Given the description of an element on the screen output the (x, y) to click on. 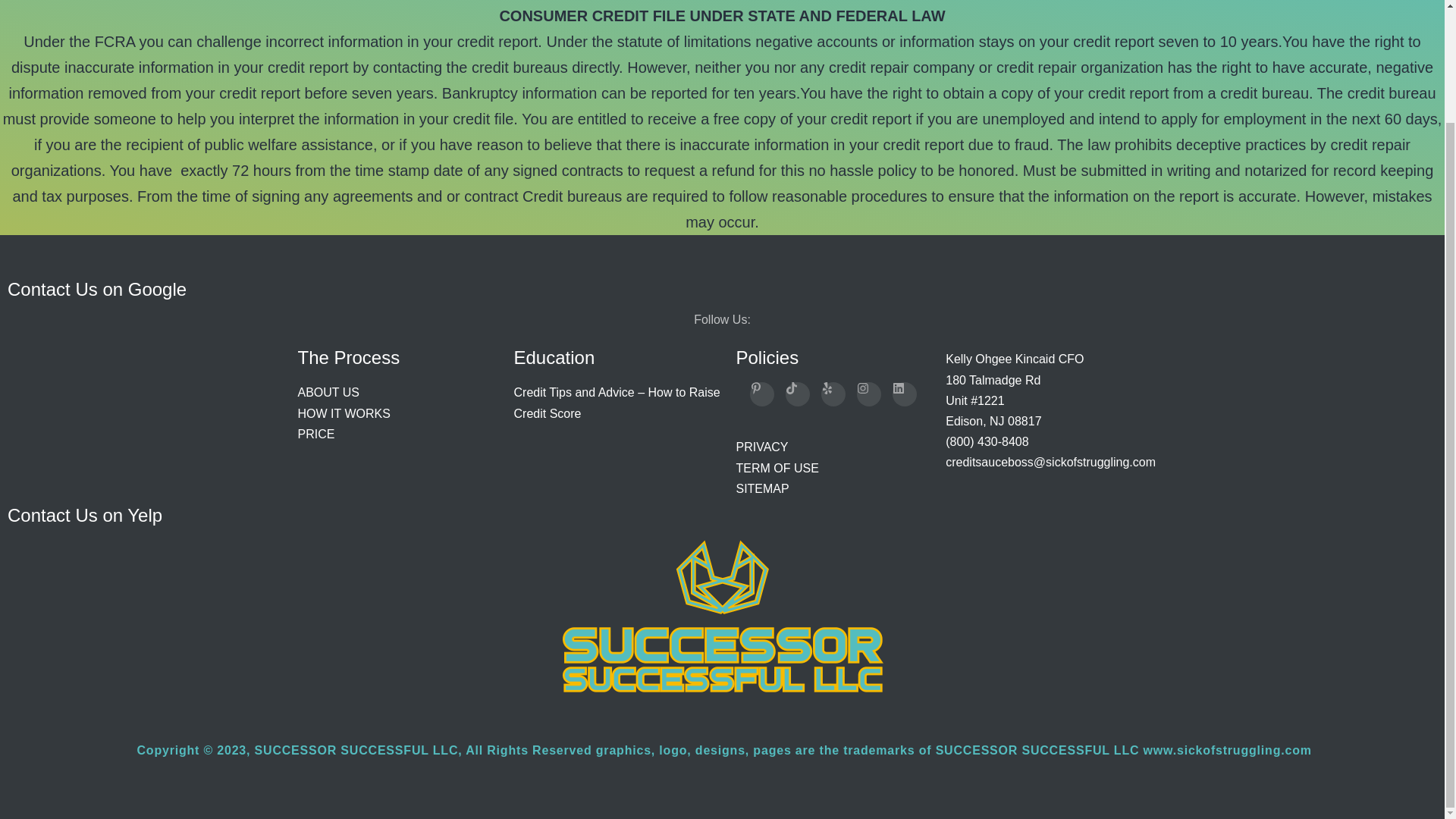
SITEMAP (762, 488)
PRIVACY (761, 446)
TERM OF USE (776, 468)
